Given the description of an element on the screen output the (x, y) to click on. 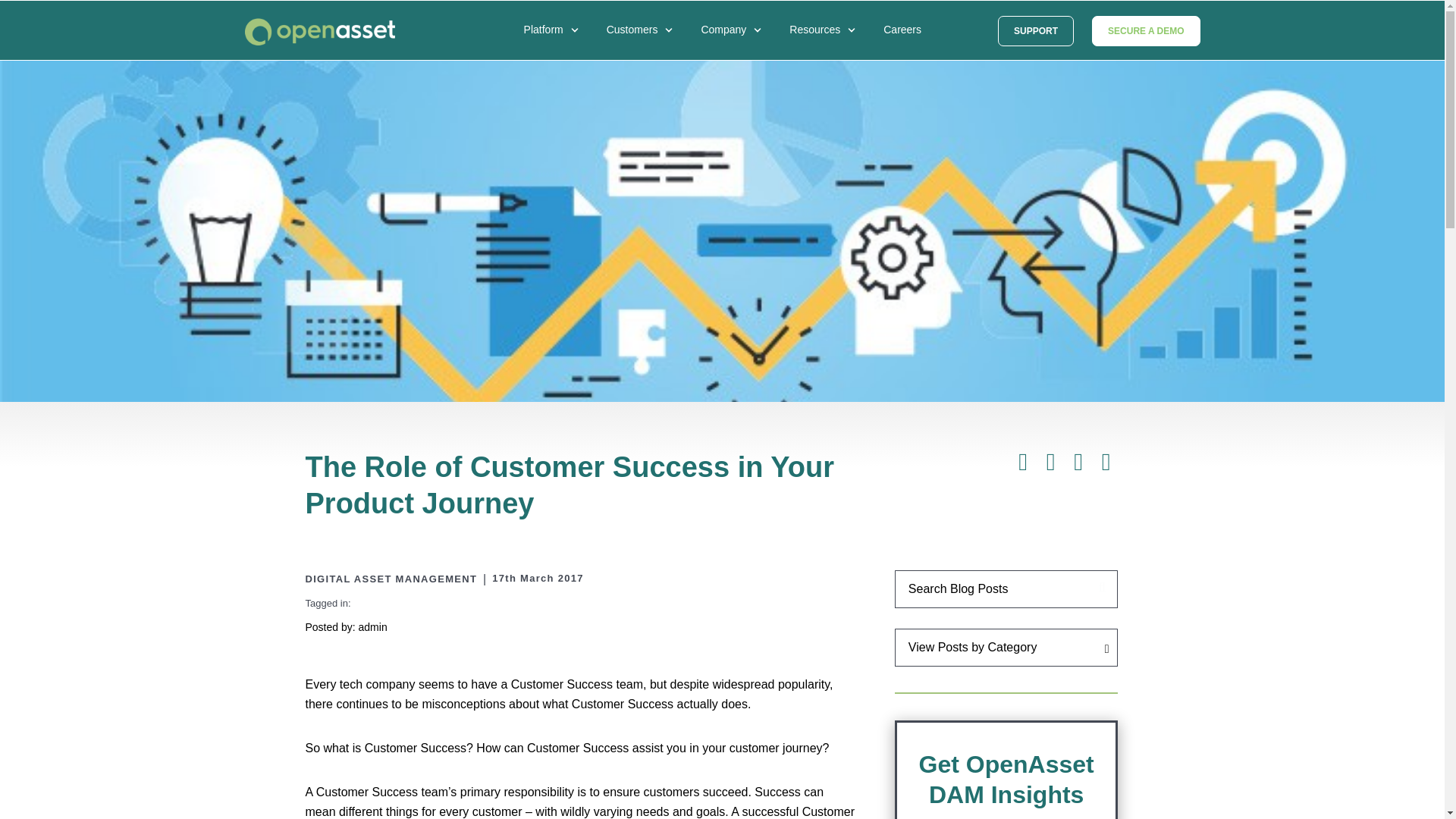
Platform (555, 43)
Resources (826, 43)
OpenAsset (320, 33)
Customers (644, 43)
17th March 2017 (537, 577)
DIGITAL ASSET MANAGEMENT (390, 579)
Company (734, 43)
Company (734, 43)
Platform (555, 43)
Customers (644, 43)
SECURE A DEMO (1145, 30)
Careers (913, 42)
SUPPORT (1035, 30)
